Given the description of an element on the screen output the (x, y) to click on. 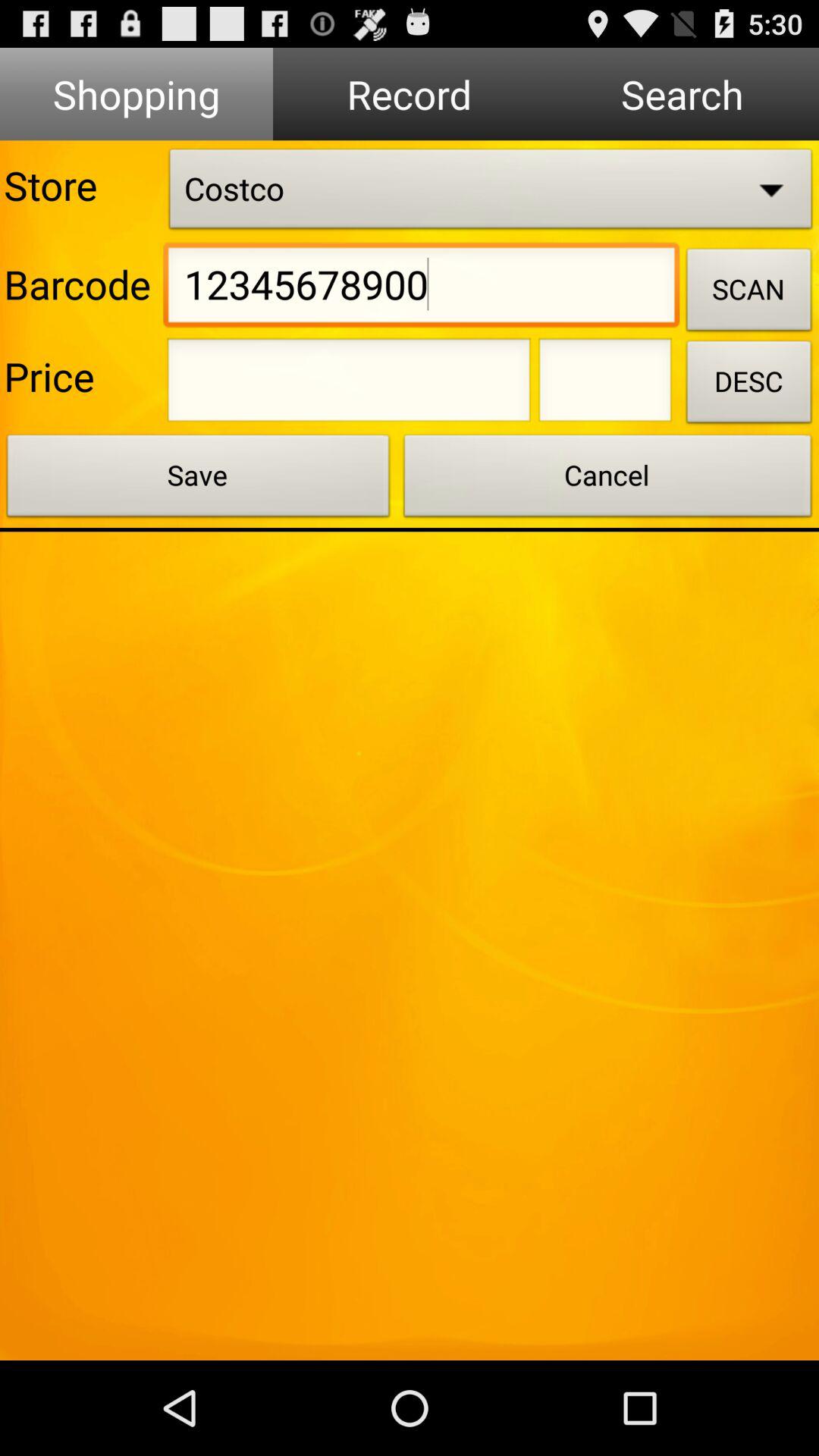
choose unit (604, 384)
